Given the description of an element on the screen output the (x, y) to click on. 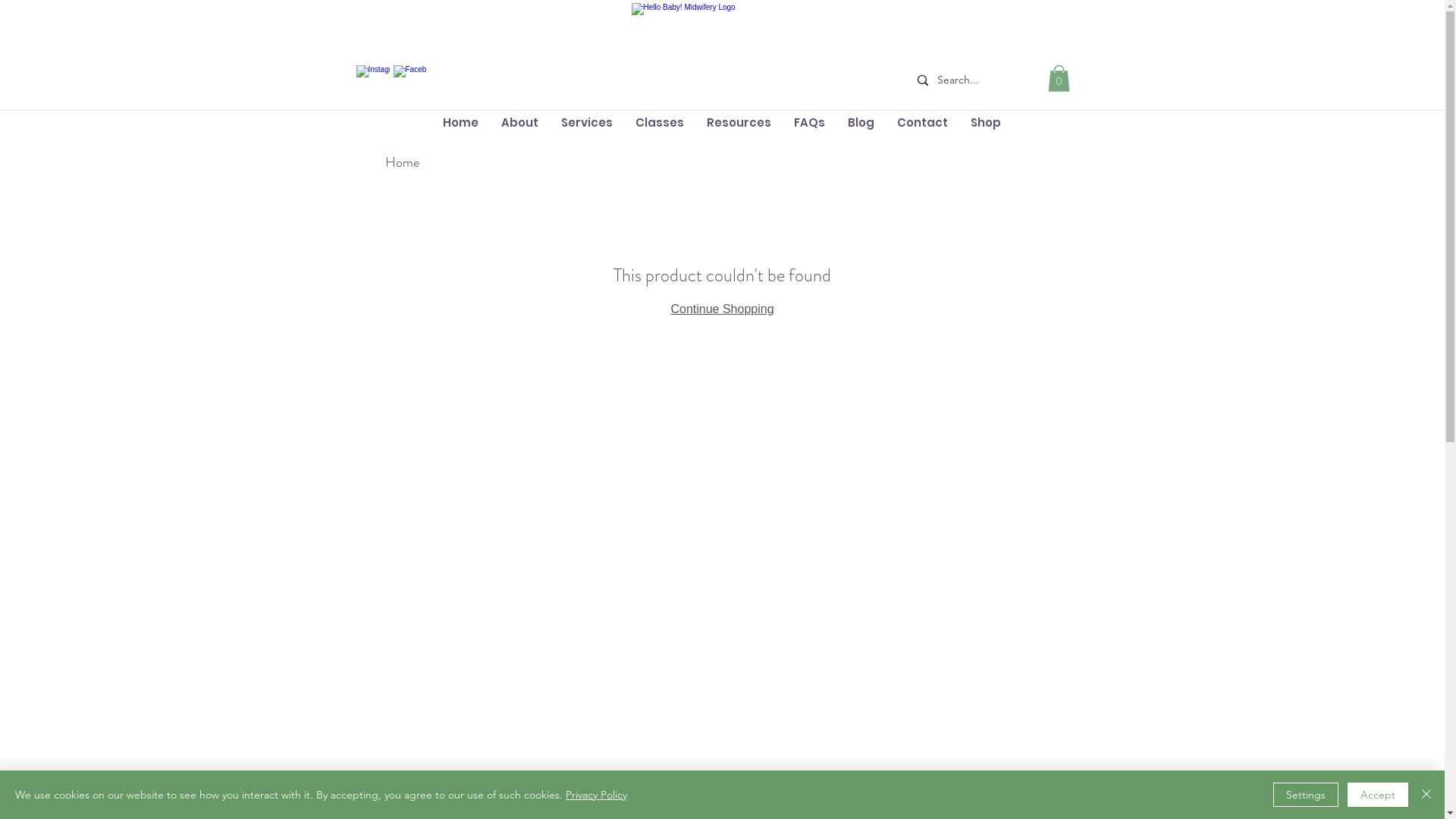
Contact Element type: text (922, 122)
Privacy Policy Element type: text (596, 794)
Shop Element type: text (984, 122)
0 Element type: text (1059, 78)
About Element type: text (519, 122)
Home Element type: text (402, 162)
Continue Shopping Element type: text (721, 308)
FAQs Element type: text (809, 122)
Classes Element type: text (658, 122)
Resources Element type: text (737, 122)
Services Element type: text (586, 122)
Settings Element type: text (1305, 794)
Home Element type: text (459, 122)
Accept Element type: text (1377, 794)
Blog Element type: text (859, 122)
